Given the description of an element on the screen output the (x, y) to click on. 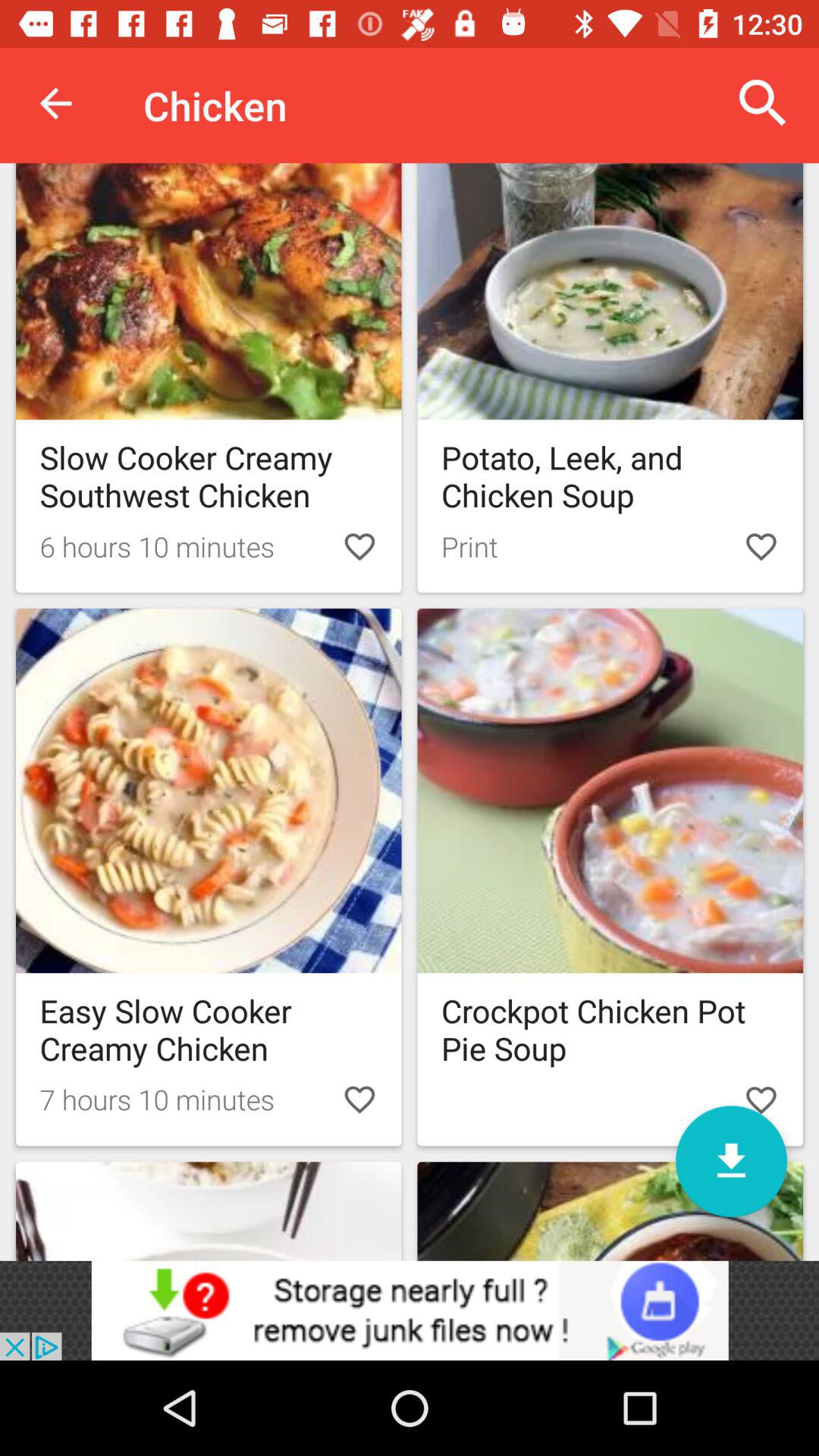
advertisement (409, 1310)
